Given the description of an element on the screen output the (x, y) to click on. 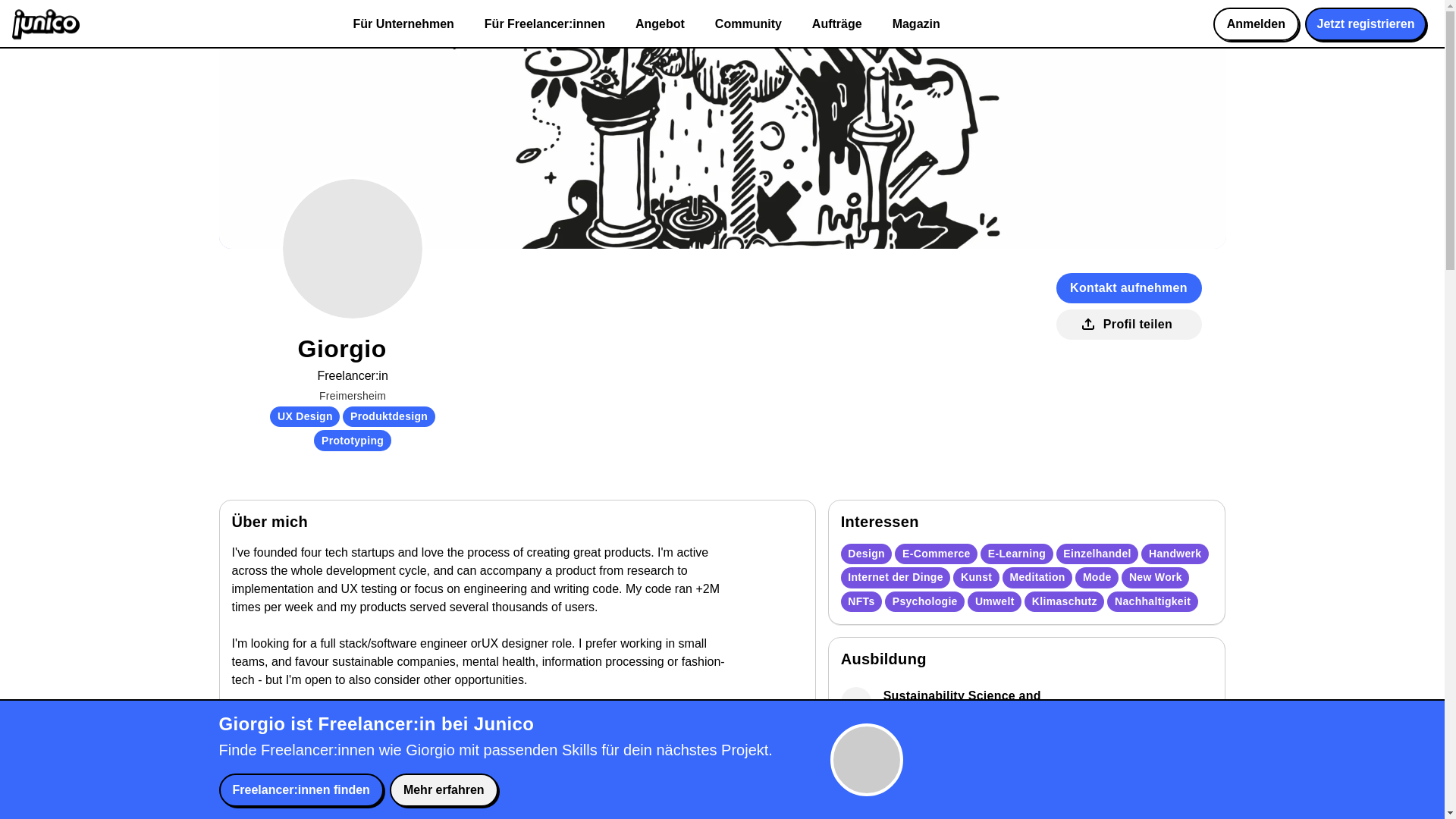
Jetzt registrieren (1365, 23)
Community (748, 24)
Freelancer:innen finden (300, 789)
Kontakt aufnehmen (1128, 287)
Magazin (916, 24)
Profil teilen (1128, 324)
Angebot (660, 24)
Anmelden (1255, 23)
Mehr erfahren (443, 789)
